Given the description of an element on the screen output the (x, y) to click on. 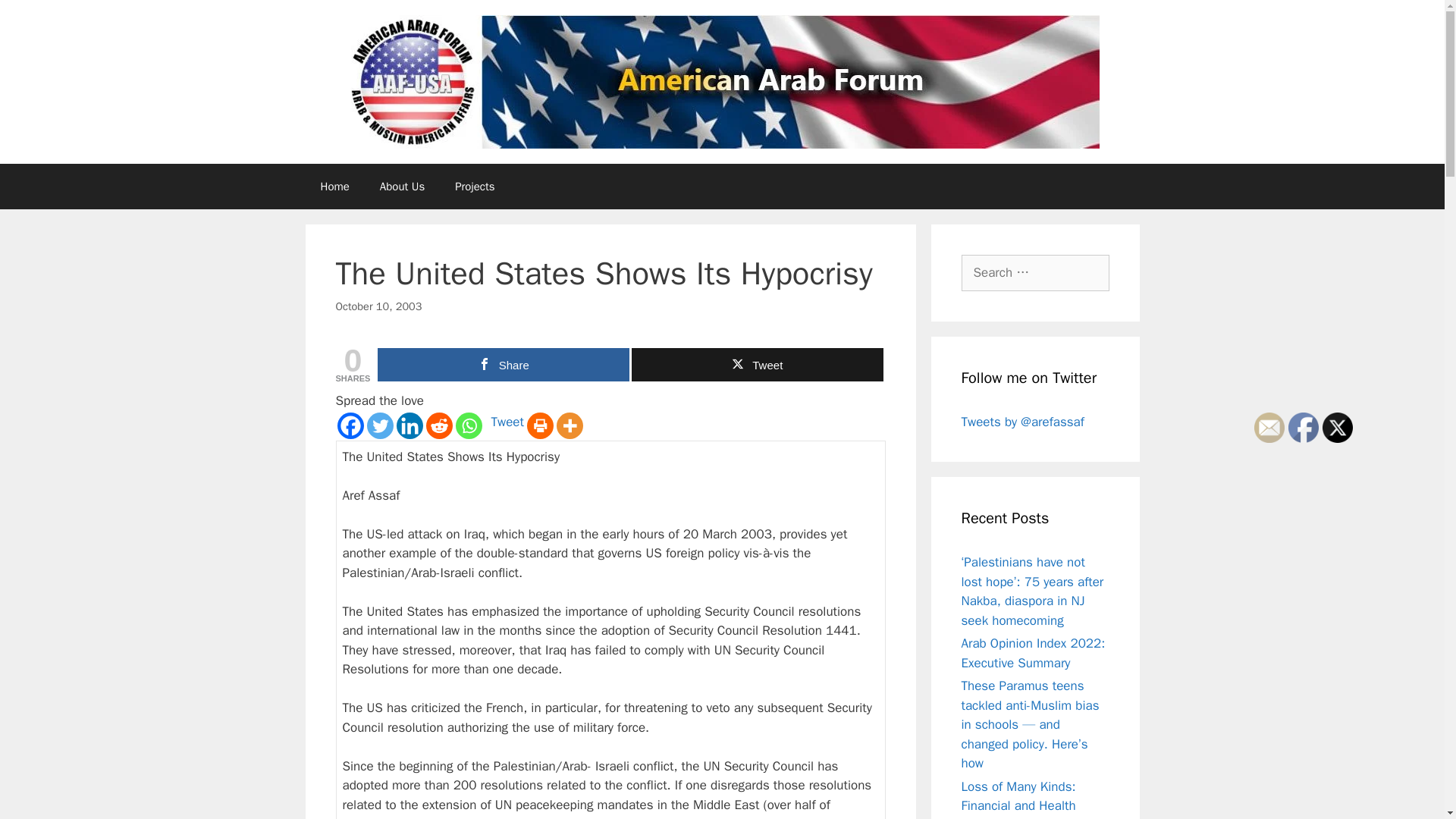
Share (502, 364)
Whatsapp (467, 425)
Linkedin (409, 425)
Follow by Email (1268, 427)
Tweet (508, 422)
Twitter (1337, 427)
Arab Opinion Index 2022: Executive Summary (1032, 652)
Twitter (379, 425)
Search (35, 18)
Facebook (349, 425)
Home (334, 186)
Search for: (1034, 272)
More (569, 425)
Projects (474, 186)
About Us (402, 186)
